Given the description of an element on the screen output the (x, y) to click on. 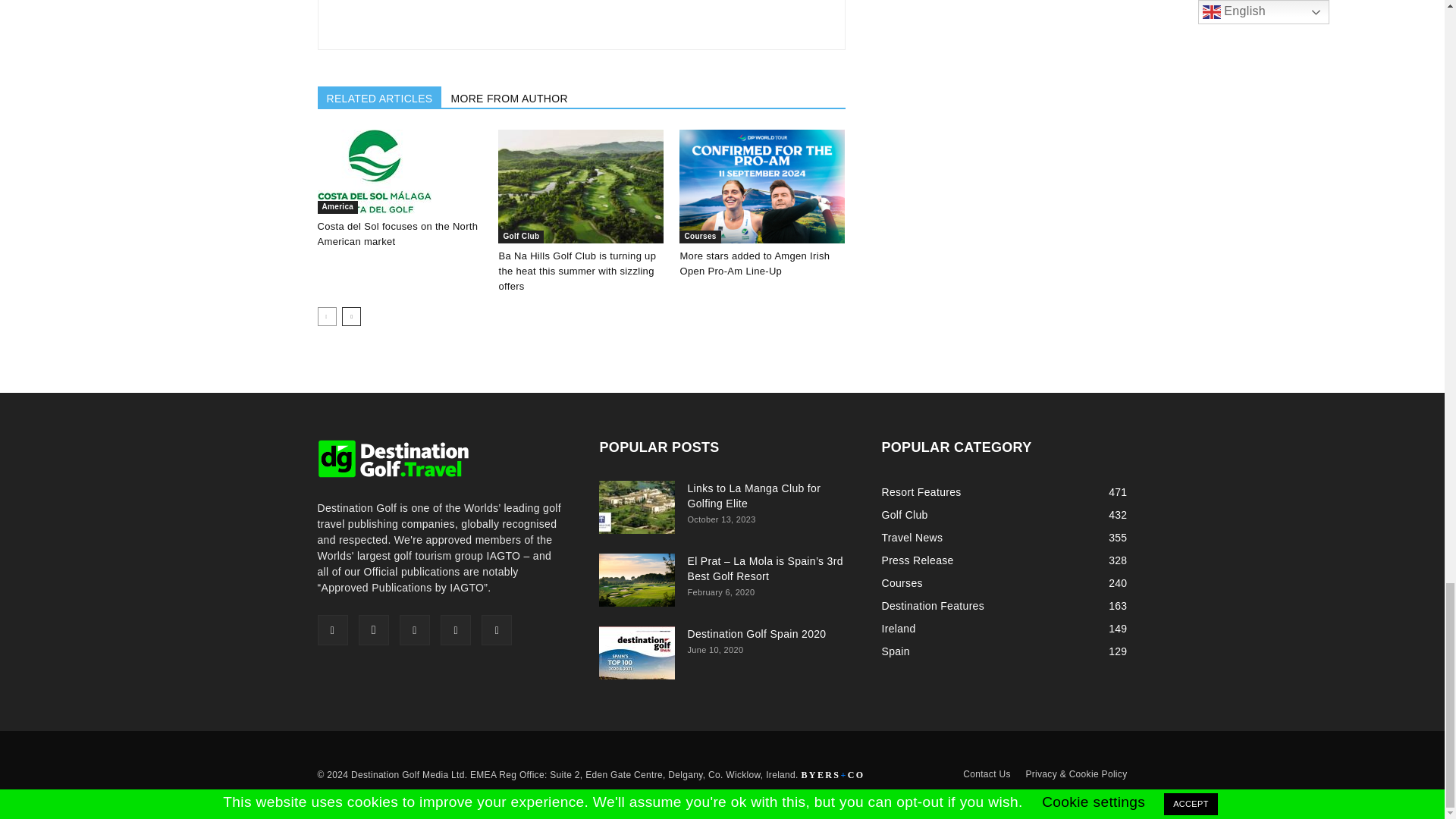
Costa del Sol focuses on the North American market (373, 171)
Costa del Sol focuses on the North American market (397, 233)
Costa del Sol focuses on the North American market (399, 171)
